Given the description of an element on the screen output the (x, y) to click on. 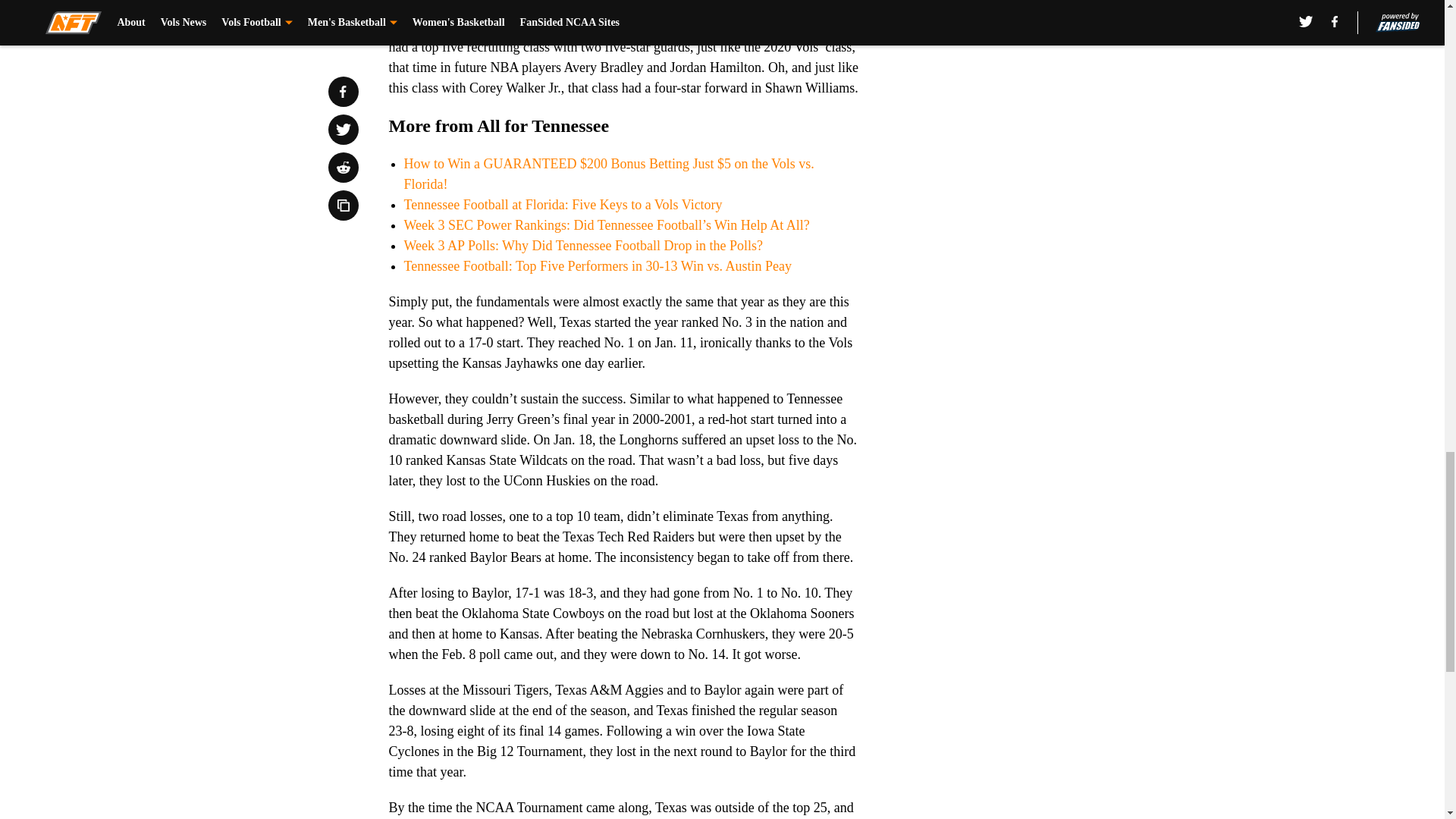
Tennessee Football at Florida: Five Keys to a Vols Victory (562, 204)
